Given the description of an element on the screen output the (x, y) to click on. 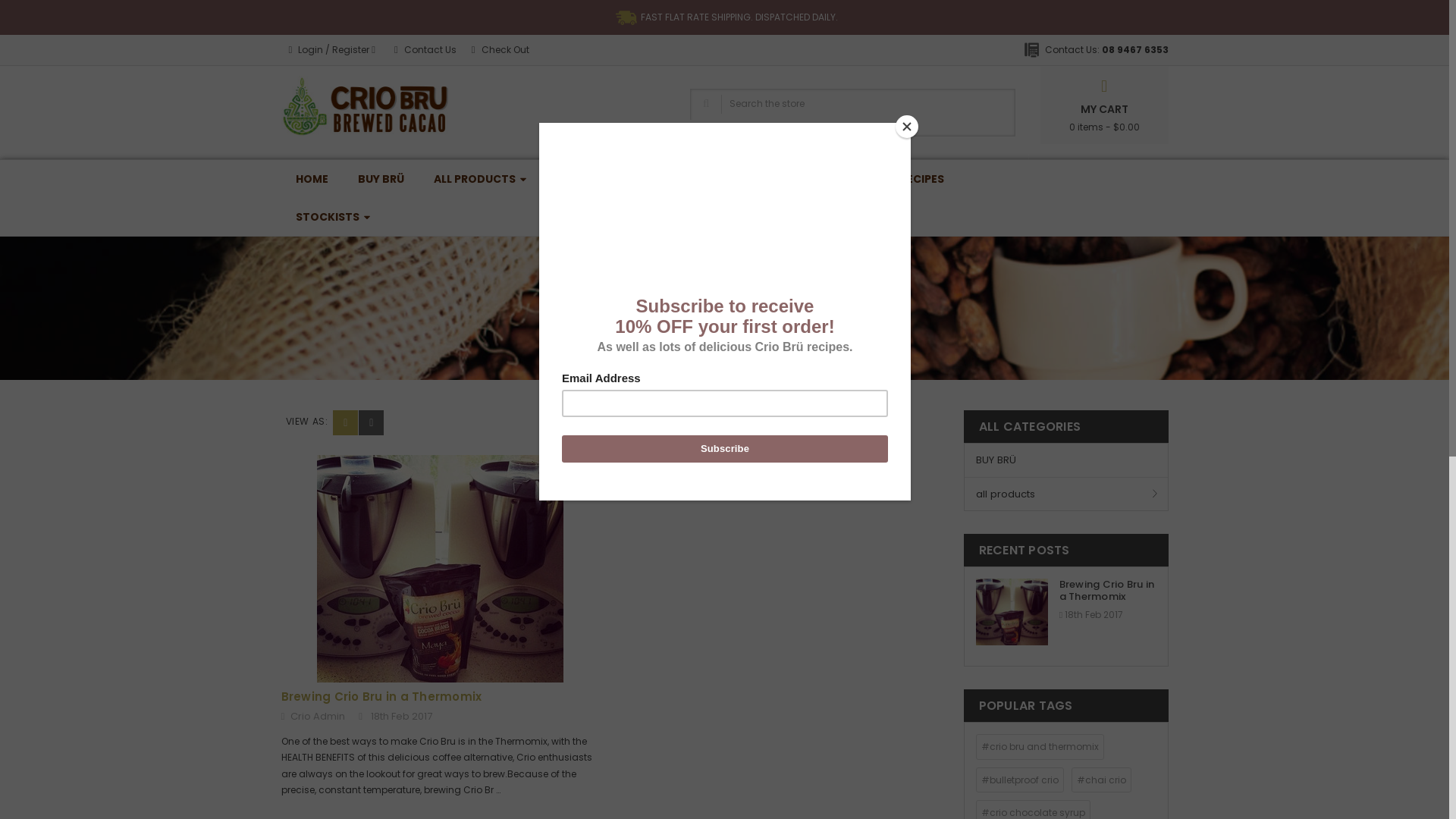
Home Element type: text (639, 325)
make crio in thermomix Element type: text (771, 325)
Contact Us Element type: text (425, 49)
#chai crio Element type: text (1101, 780)
#bulletproof crio Element type: text (1019, 780)
Brewing Crio Bru in a Thermomix Element type: hover (439, 568)
Login / Register Element type: text (333, 49)
FAST FLAT RATE SHIPPING. DISPATCHED DAILY. Element type: text (723, 17)
Brewing Crio Bru in a Thermomix Element type: hover (1011, 611)
MY CART
0 items - $0.00 Element type: text (1104, 106)
Brewing Crio Bru in a Thermomix Element type: text (1106, 590)
ALL PRODUCTS Element type: text (480, 178)
all products Element type: text (1065, 494)
RECIPES Element type: text (921, 178)
Crio Bru Australia Pty Ltd Element type: hover (364, 106)
Search Element type: text (724, 127)
STOCKISTS Element type: text (332, 216)
HOME Element type: text (311, 178)
Check Out Element type: text (500, 49)
#crio bru and thermomix Element type: text (1039, 746)
Blog Element type: text (684, 325)
Brewing Crio Bru in a Thermomix Element type: text (380, 696)
